Given the description of an element on the screen output the (x, y) to click on. 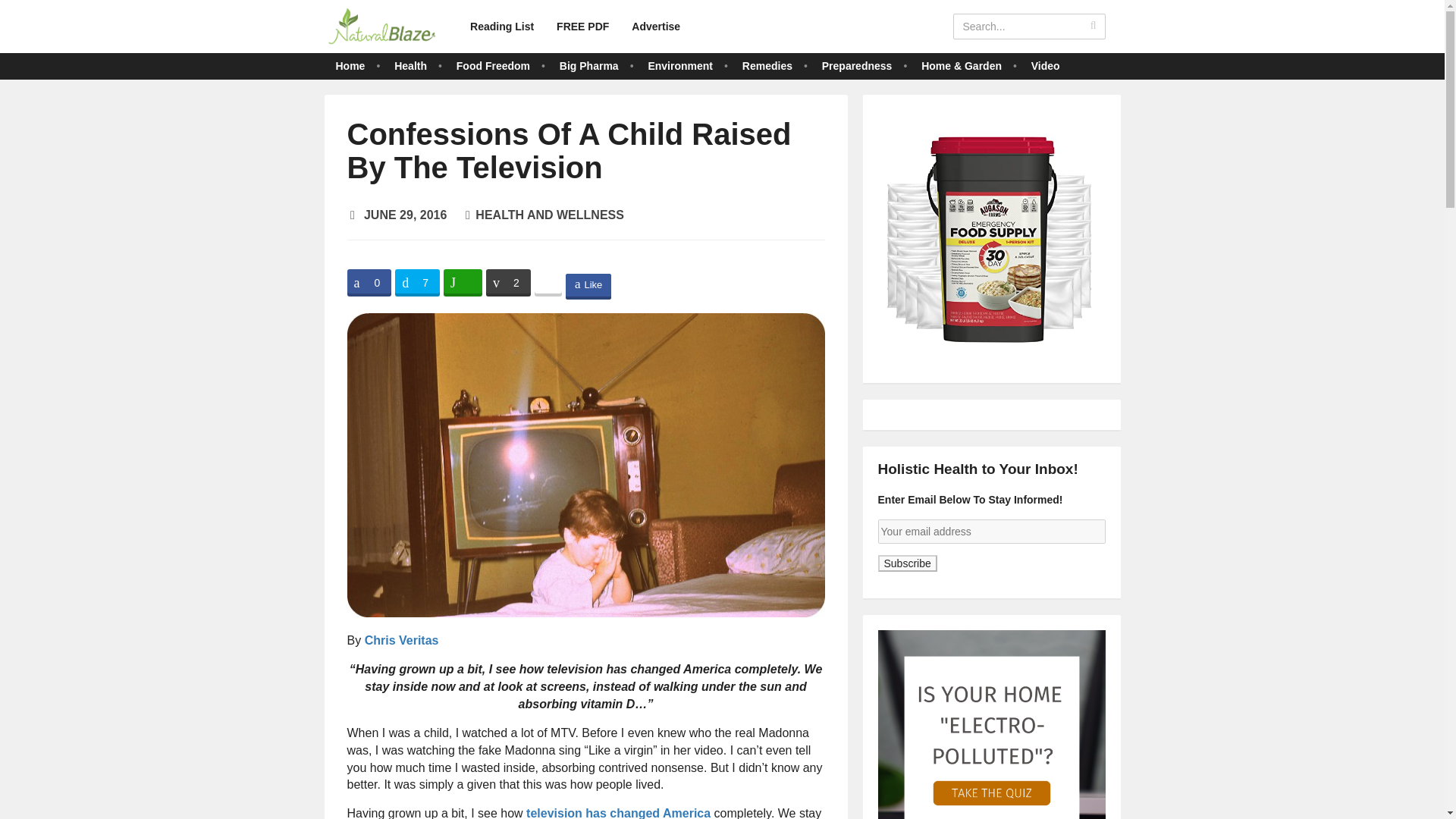
Environment (680, 65)
2 (508, 282)
Environment (680, 65)
Food Freedom (492, 65)
Reading List (501, 26)
Health (410, 65)
FREE PDF (582, 26)
HEALTH AND WELLNESS (550, 214)
FREE PDF (582, 26)
0 (369, 282)
